Given the description of an element on the screen output the (x, y) to click on. 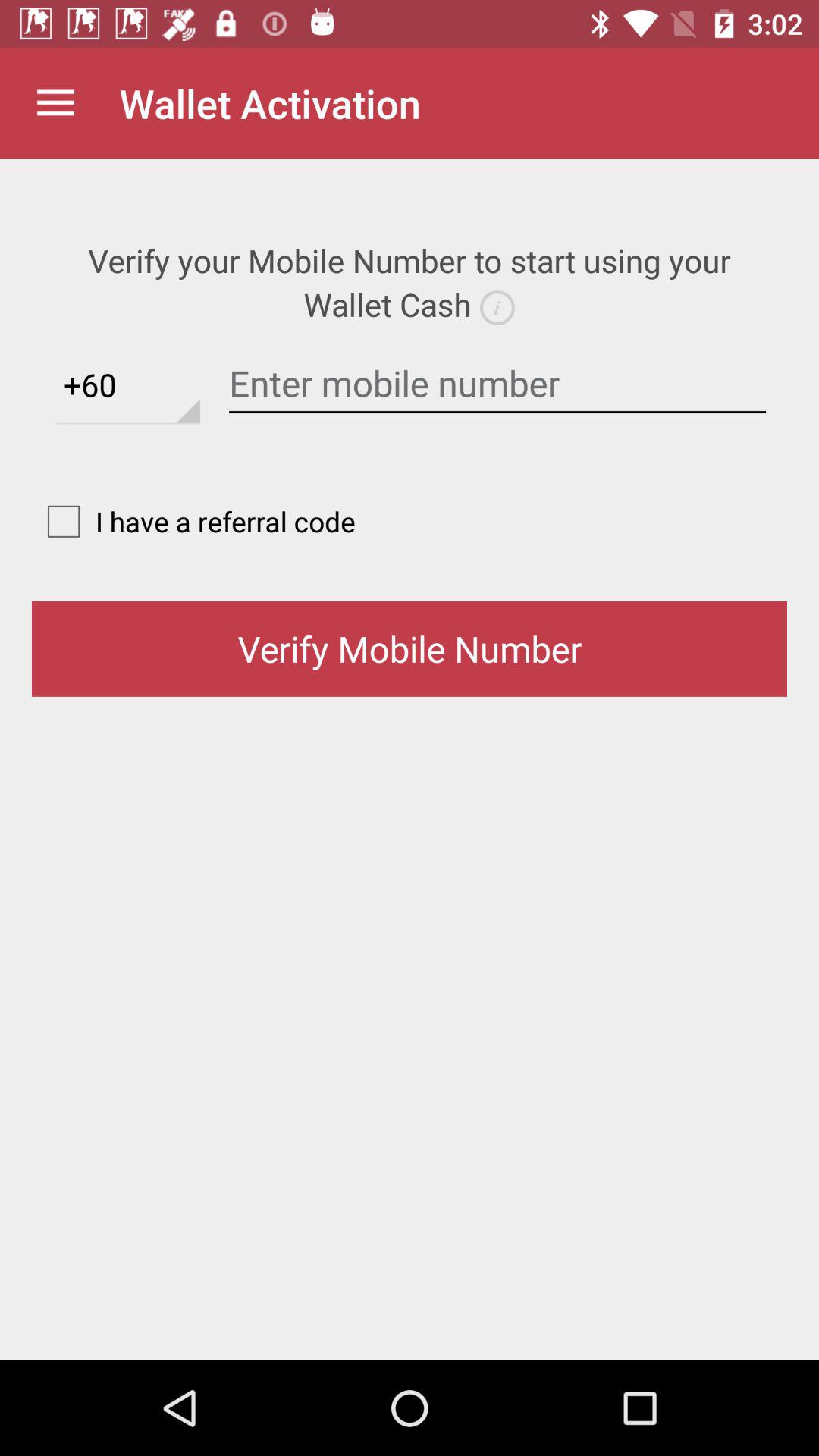
mobile number (497, 383)
